Given the description of an element on the screen output the (x, y) to click on. 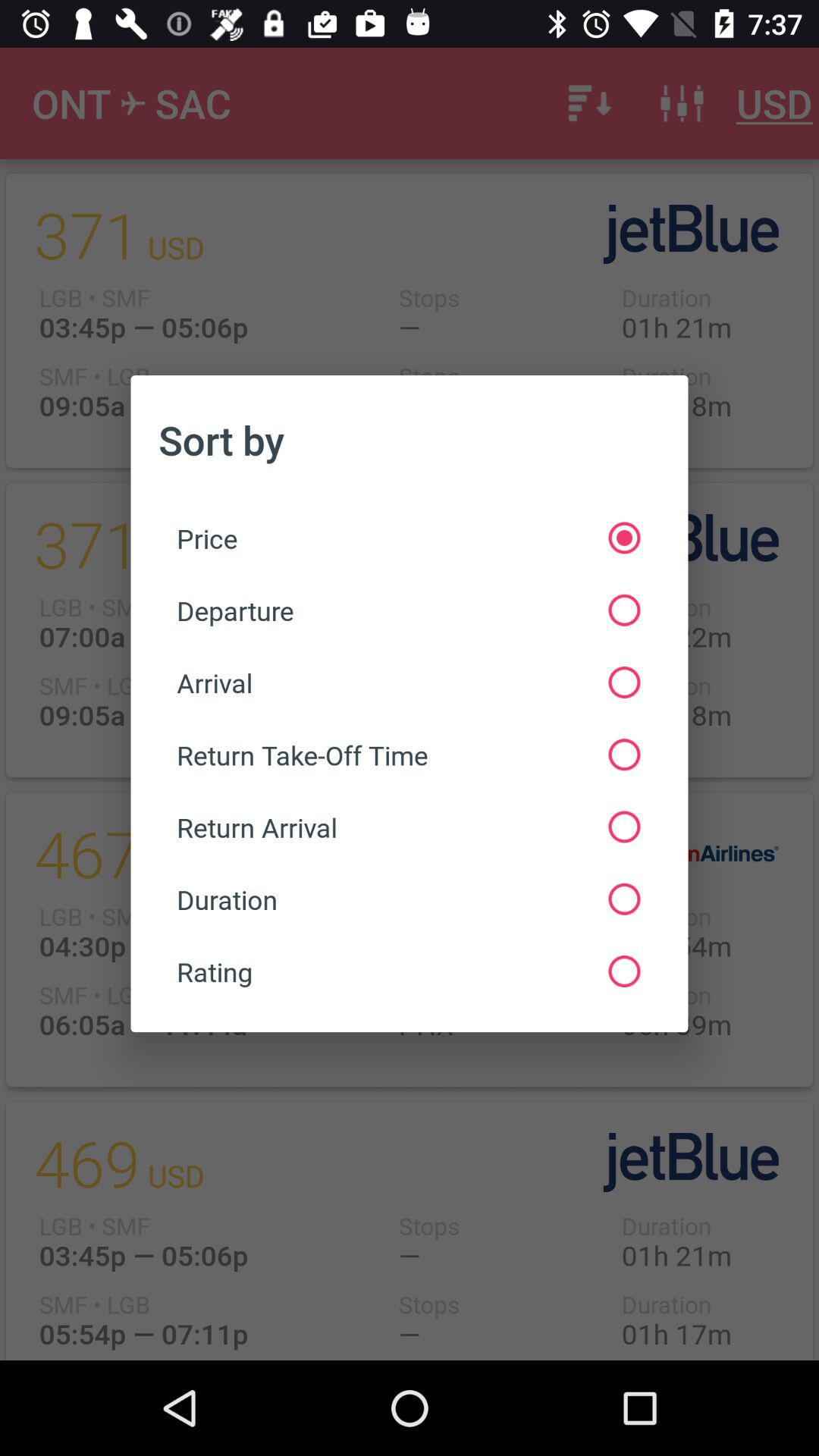
choose the return take off (408, 754)
